Given the description of an element on the screen output the (x, y) to click on. 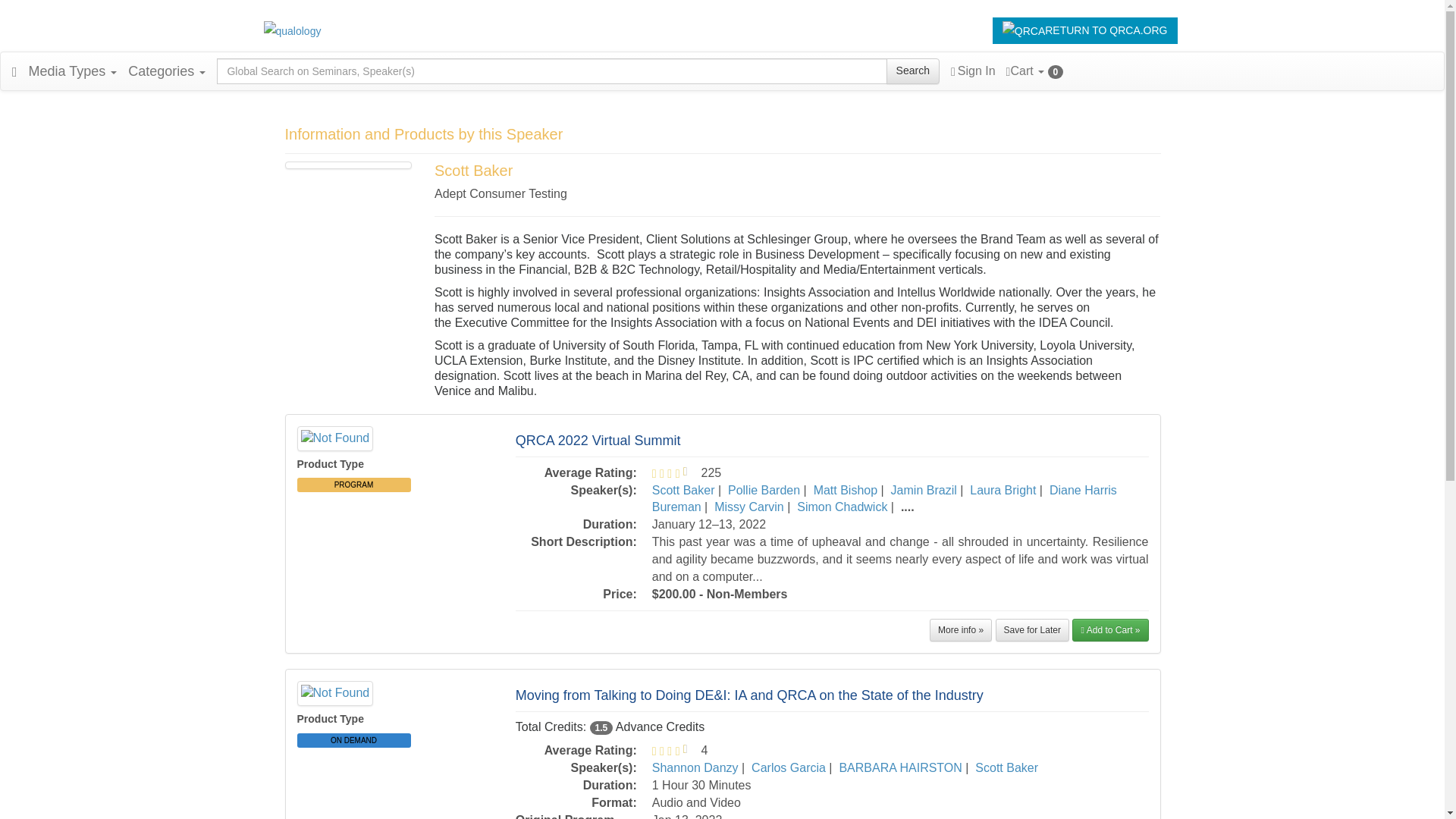
Categories (166, 71)
RETURN TO QRCA.ORG (1084, 30)
Cart  0 (1034, 71)
Sign In (973, 71)
Media Types (73, 71)
Search (912, 71)
